Given the description of an element on the screen output the (x, y) to click on. 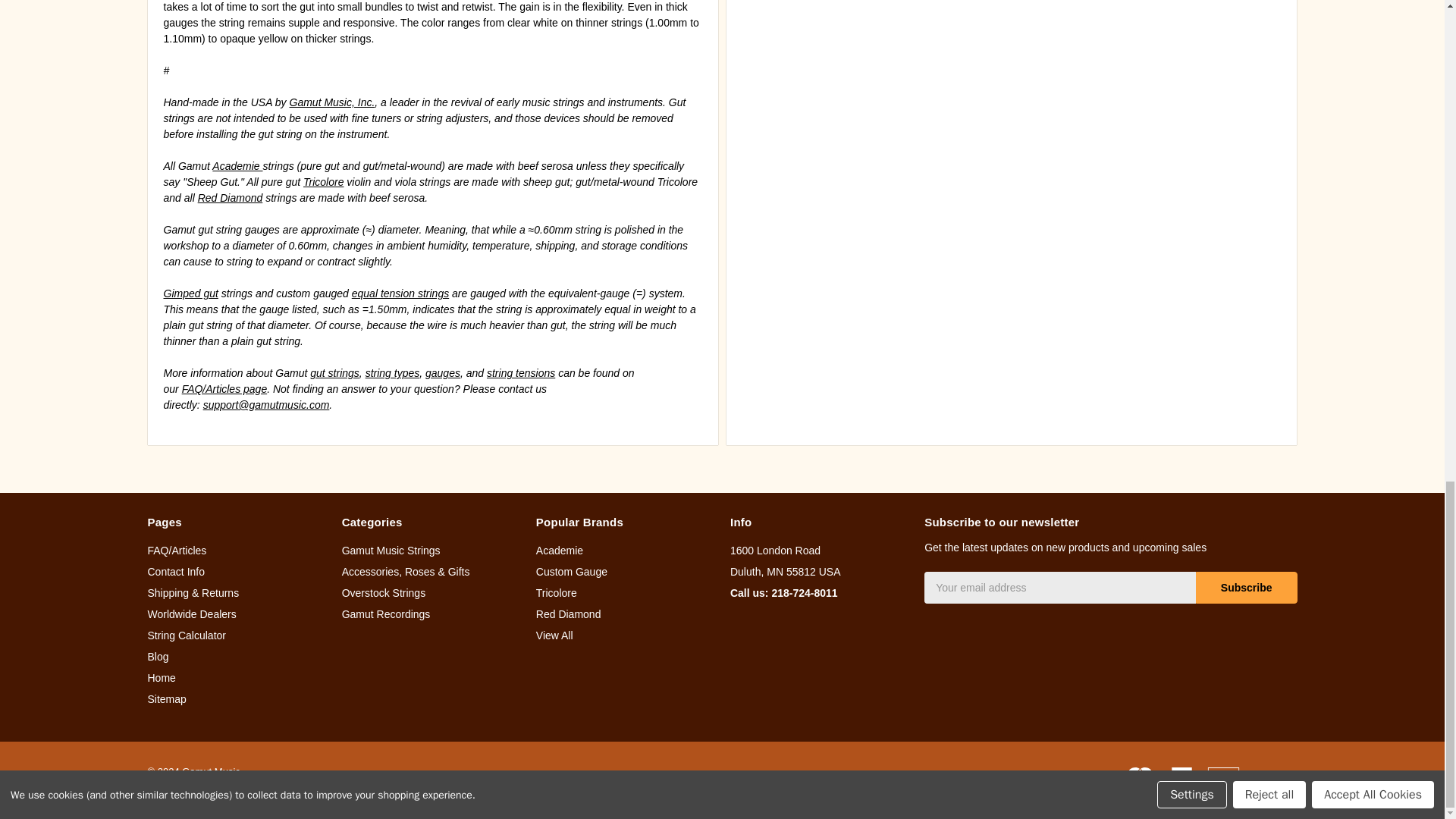
Subscribe (1246, 587)
